Given the description of an element on the screen output the (x, y) to click on. 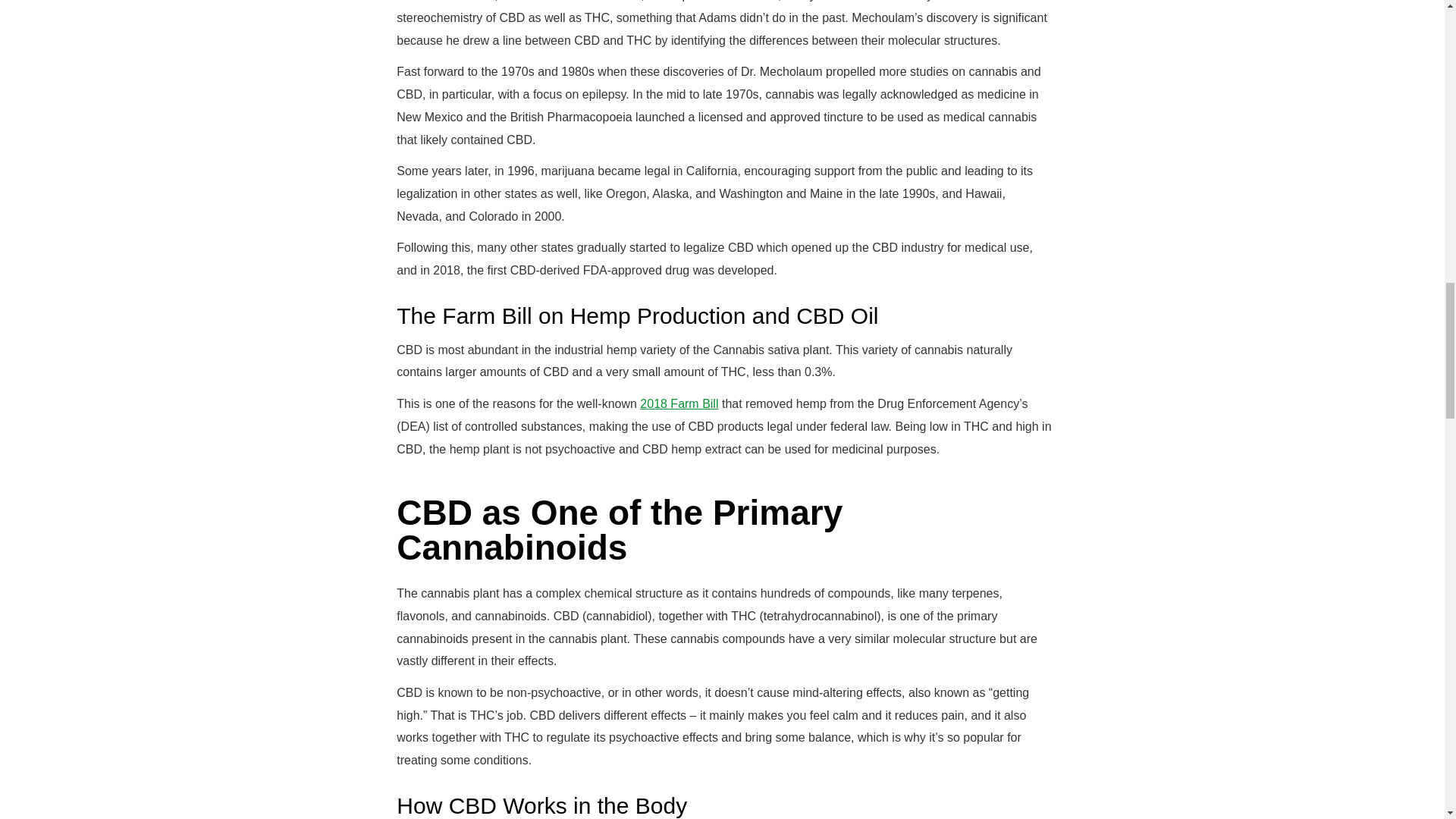
2018 Farm Bill (678, 403)
